Given the description of an element on the screen output the (x, y) to click on. 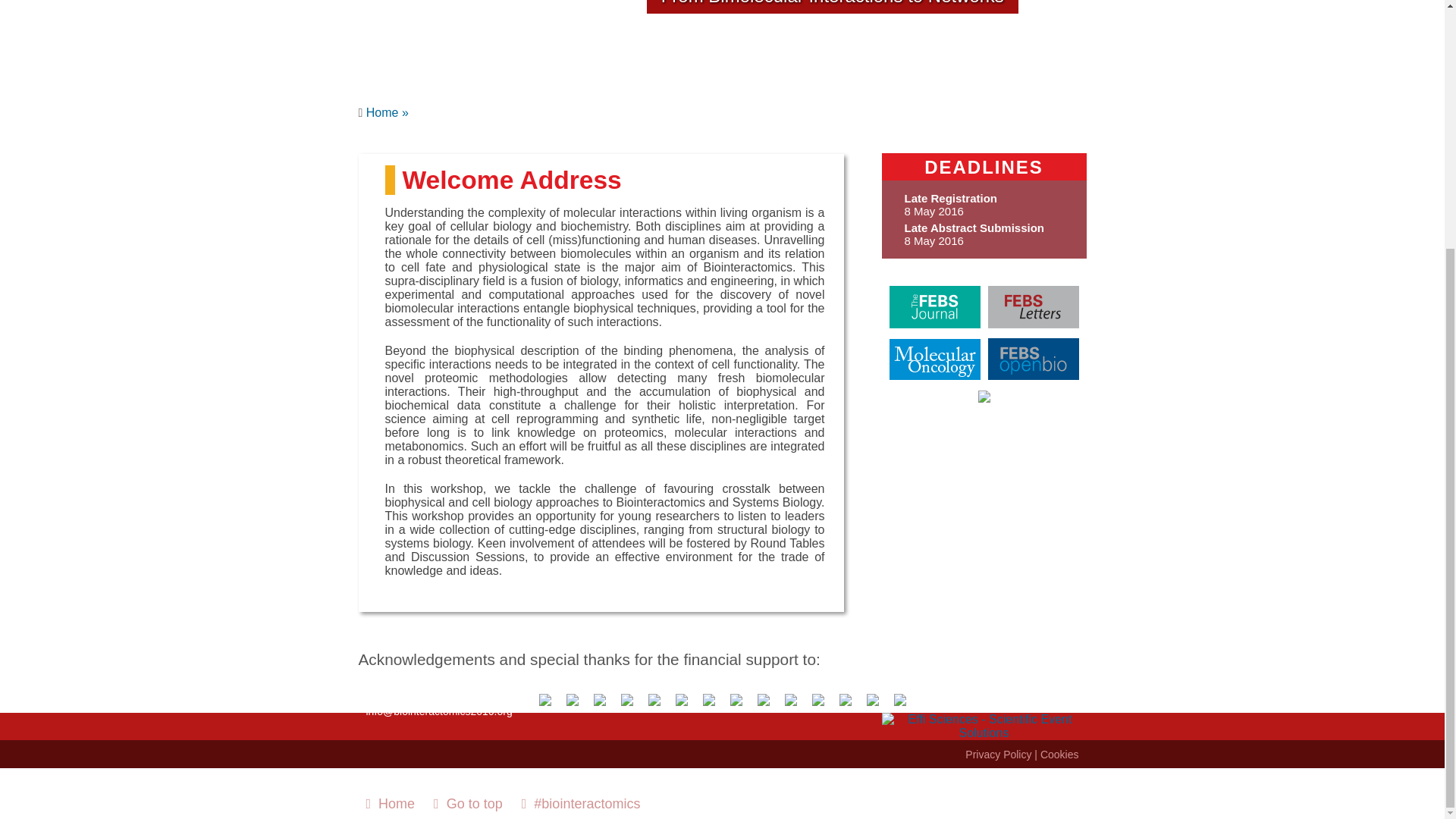
Home (390, 803)
Go to top (468, 803)
Home (387, 112)
